Given the description of an element on the screen output the (x, y) to click on. 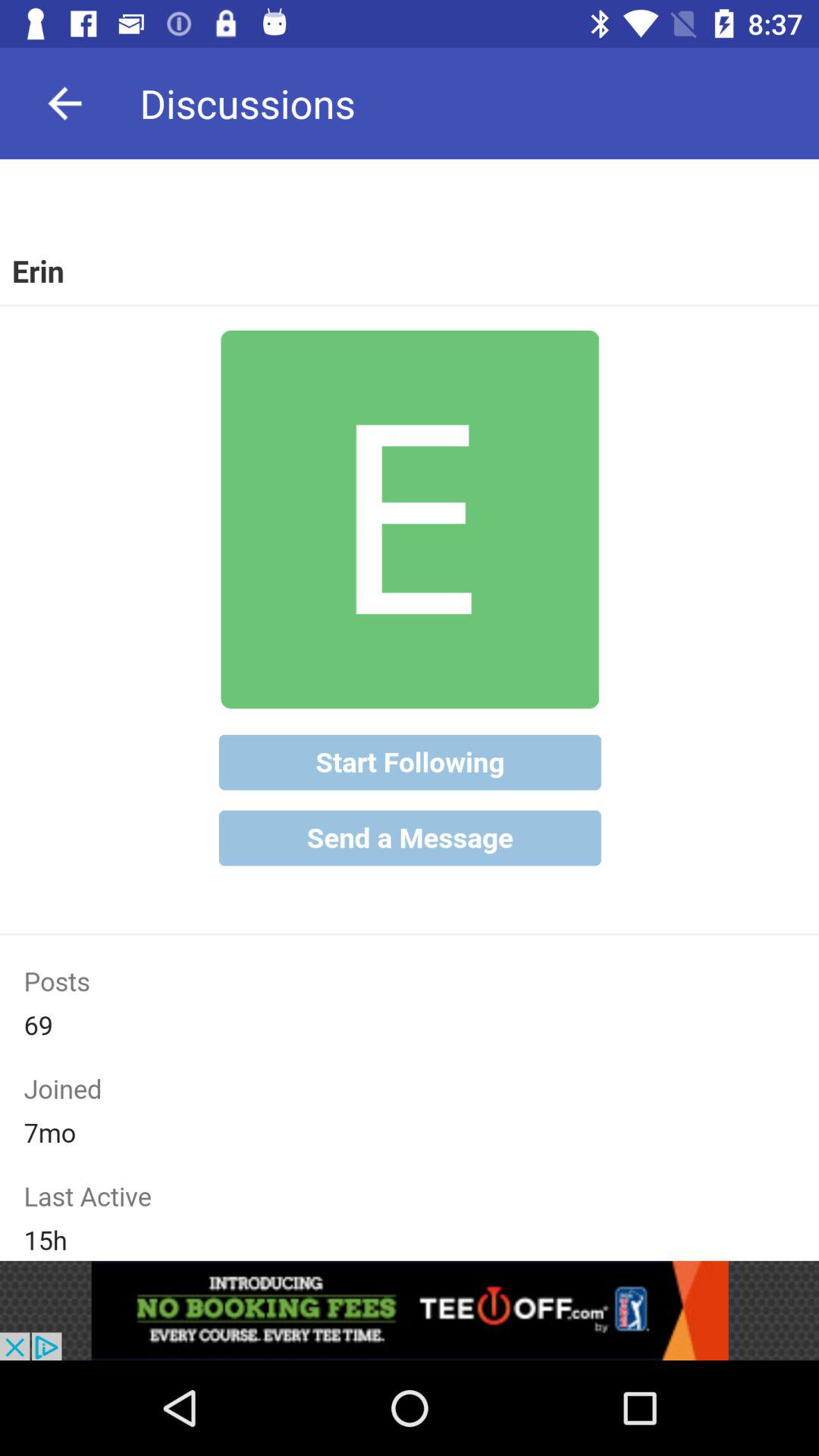
click to view add (409, 1310)
